Given the description of an element on the screen output the (x, y) to click on. 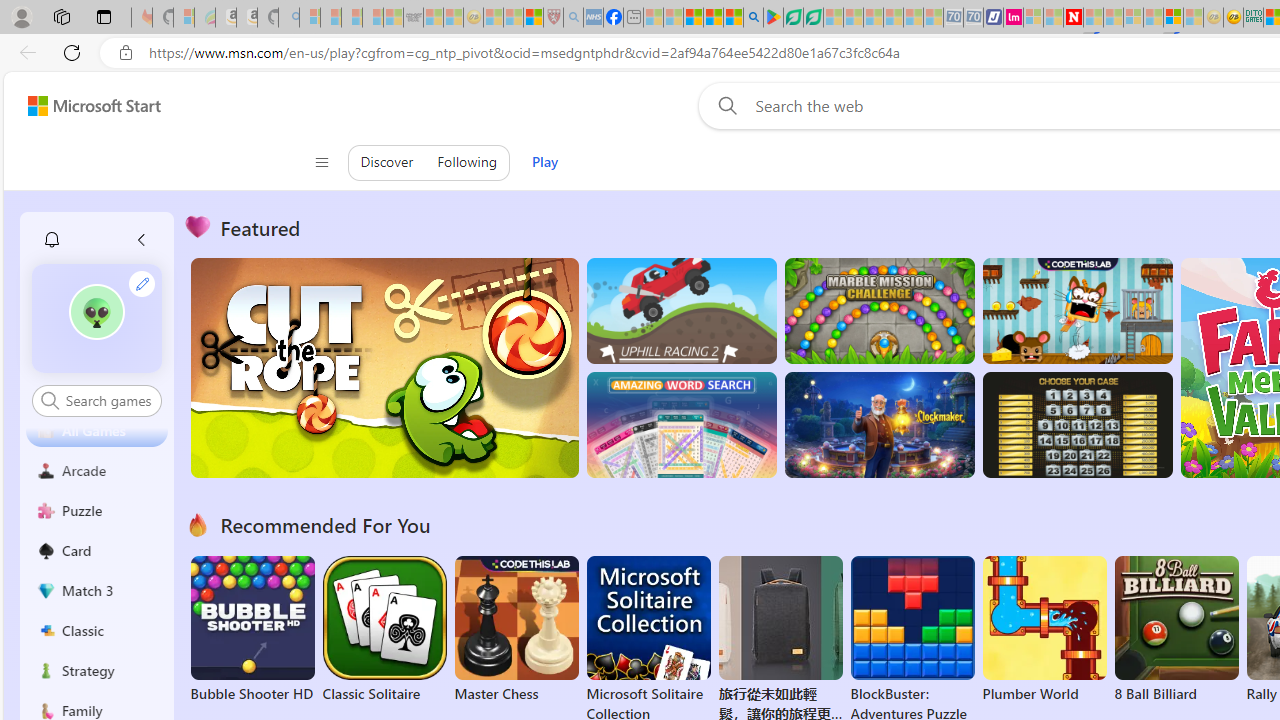
Classic Solitaire (384, 629)
Bluey: Let's Play! - Apps on Google Play (773, 17)
Class: profile-edit (142, 283)
8 Ball Billiard (1176, 629)
